Given the description of an element on the screen output the (x, y) to click on. 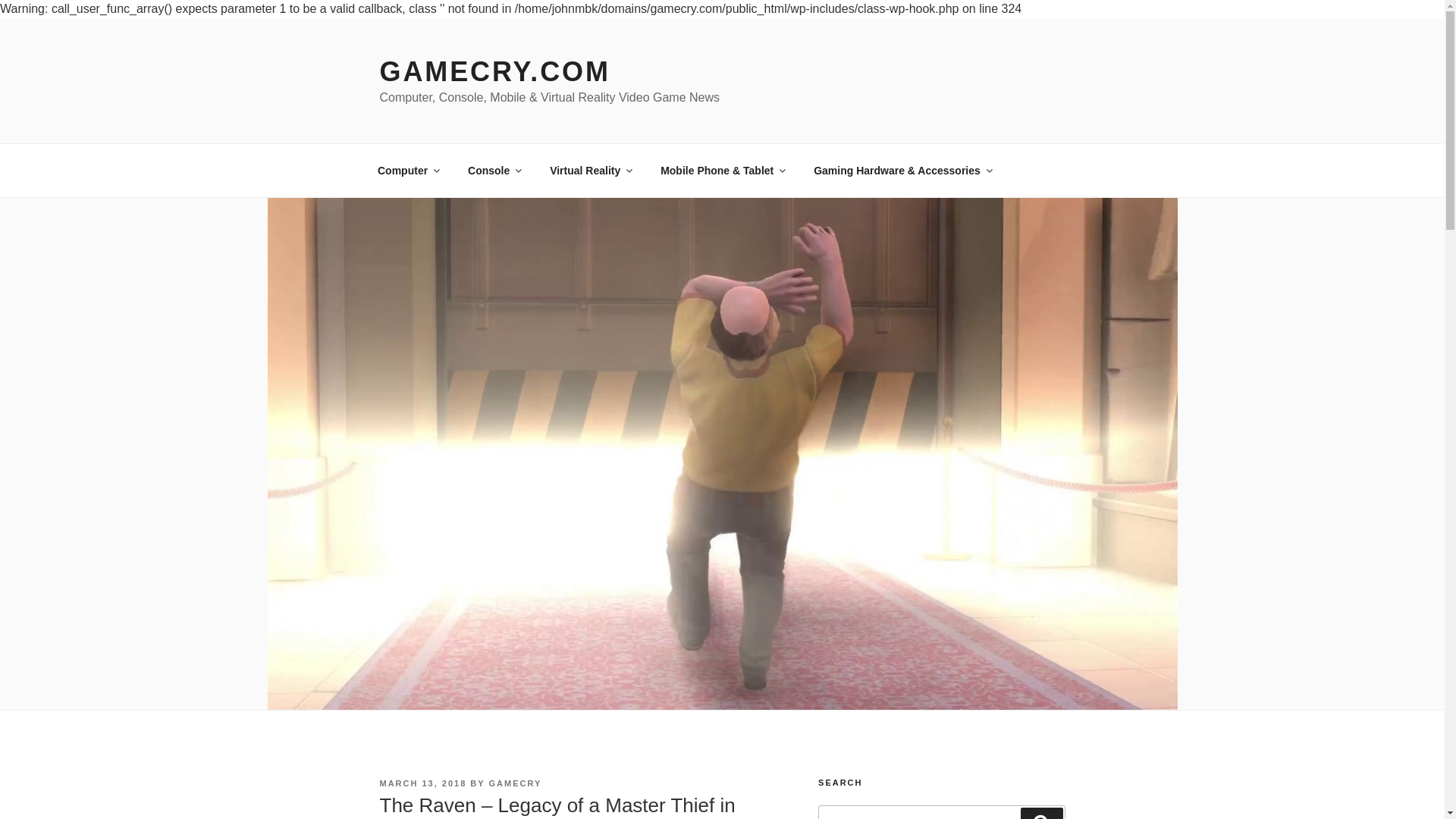
GAMECRY.COM (494, 71)
Virtual Reality (591, 170)
Console (494, 170)
Computer (407, 170)
